Given the description of an element on the screen output the (x, y) to click on. 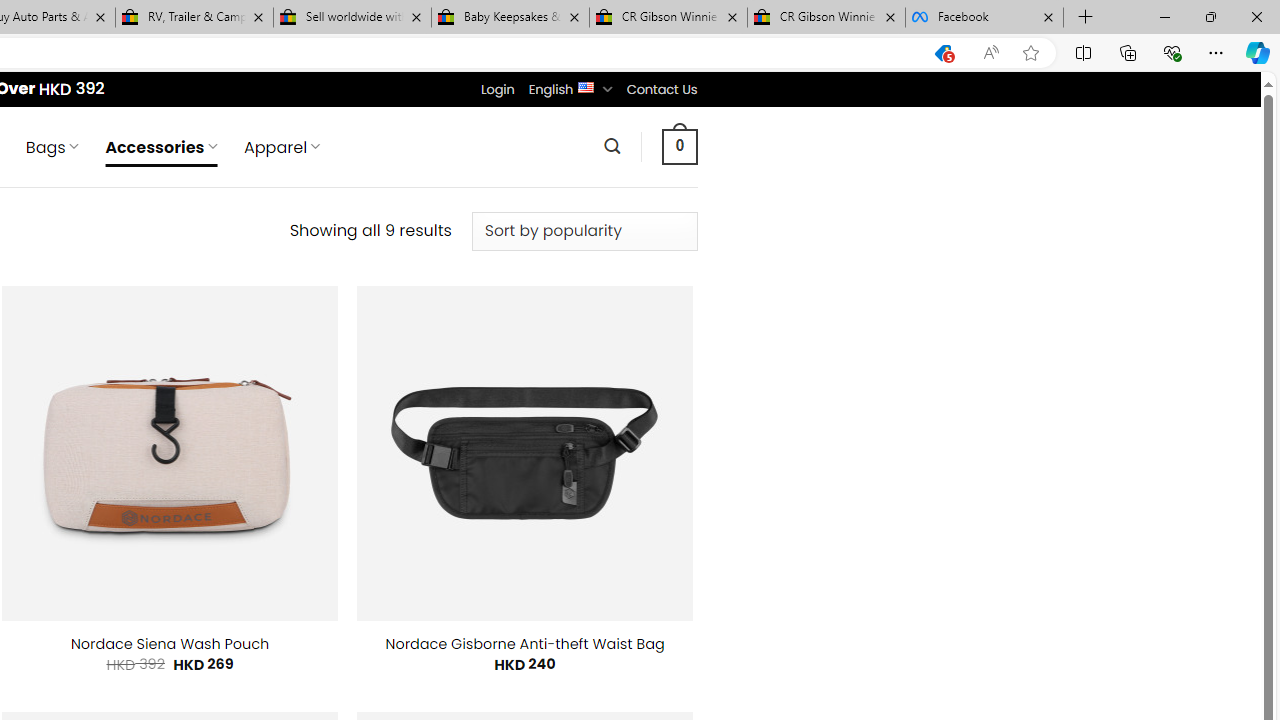
  0   (679, 146)
Contact Us (661, 89)
Baby Keepsakes & Announcements for sale | eBay (509, 17)
Login (497, 89)
Shop order (584, 231)
